Given the description of an element on the screen output the (x, y) to click on. 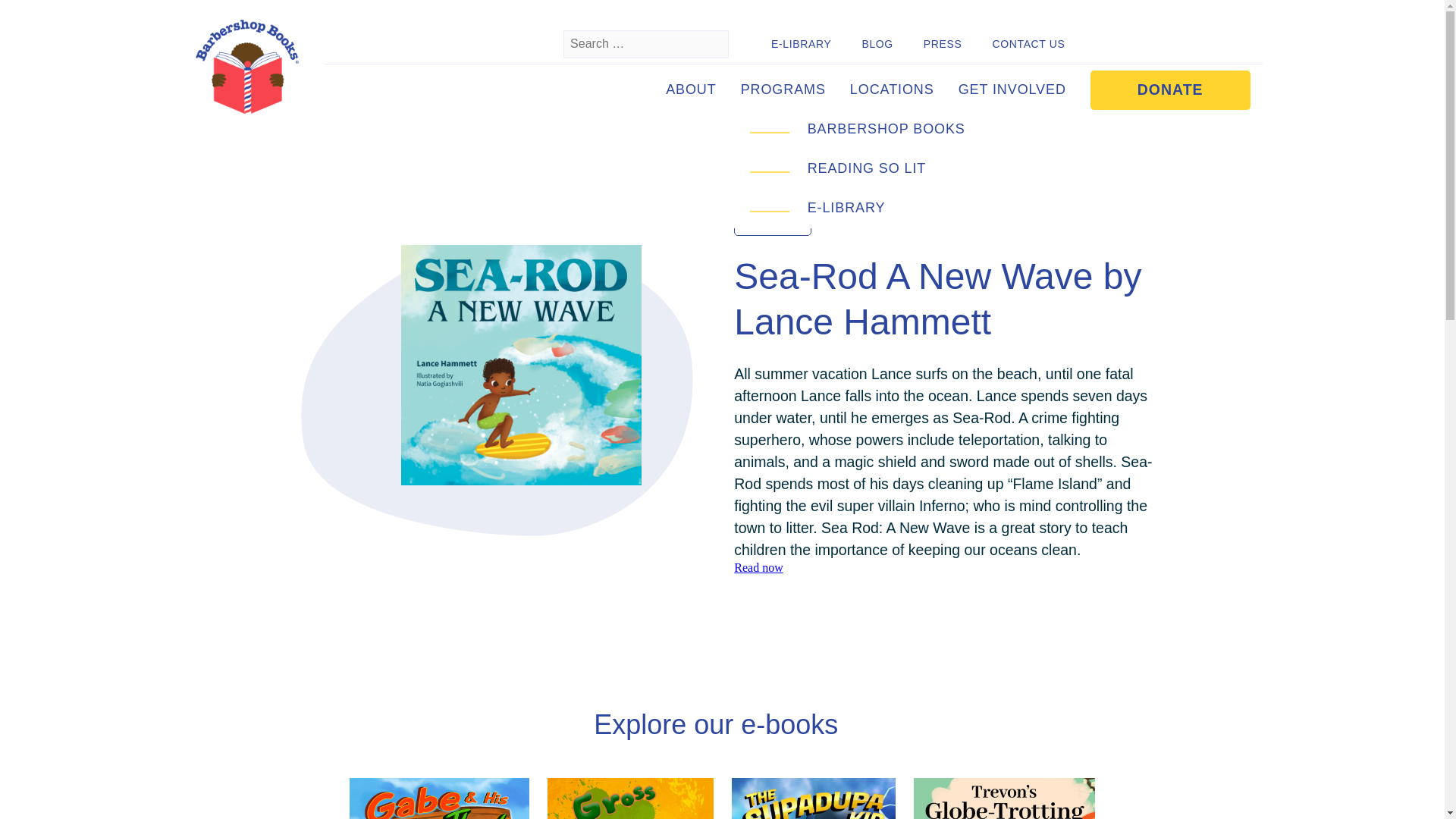
LOCATIONS (892, 89)
PRESS (942, 43)
CONTACT US (1028, 43)
Explore our e-books (722, 725)
E-LIBRARY (800, 43)
GET INVOLVED (1012, 89)
BLOG (876, 43)
READING SO LIT (866, 169)
ABOUT (691, 89)
BARBERSHOP BOOKS (885, 129)
